Given the description of an element on the screen output the (x, y) to click on. 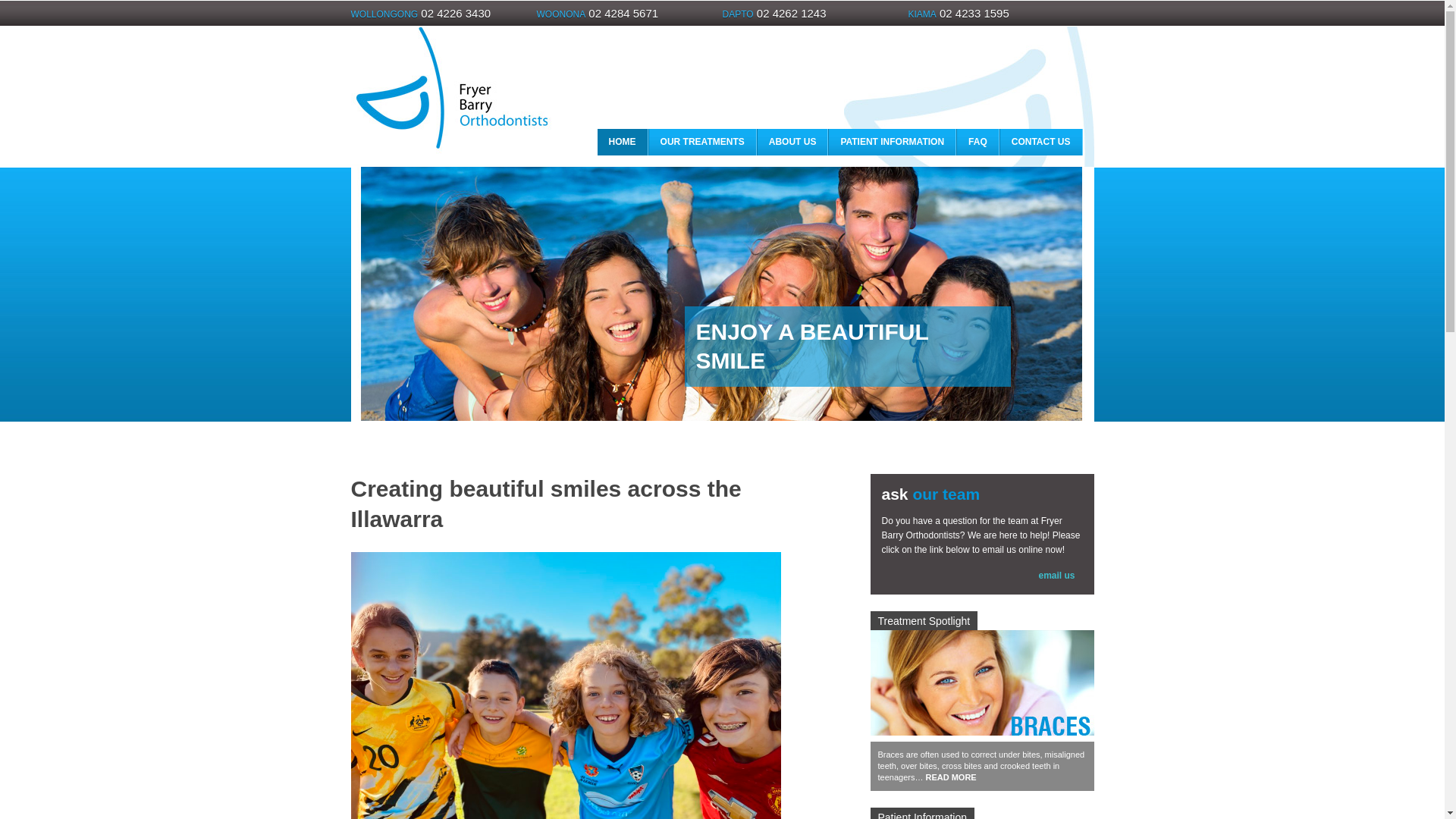
Fryer Barry Orthodontists Element type: hover (450, 155)
email us Element type: text (1056, 575)
PATIENT INFORMATION Element type: text (892, 141)
CONTACT US Element type: text (1040, 141)
HOME Element type: text (622, 141)
ABOUT US Element type: text (792, 141)
READ MORE Element type: text (950, 776)
OUR TREATMENTS Element type: text (702, 141)
FAQ Element type: text (977, 141)
